Given the description of an element on the screen output the (x, y) to click on. 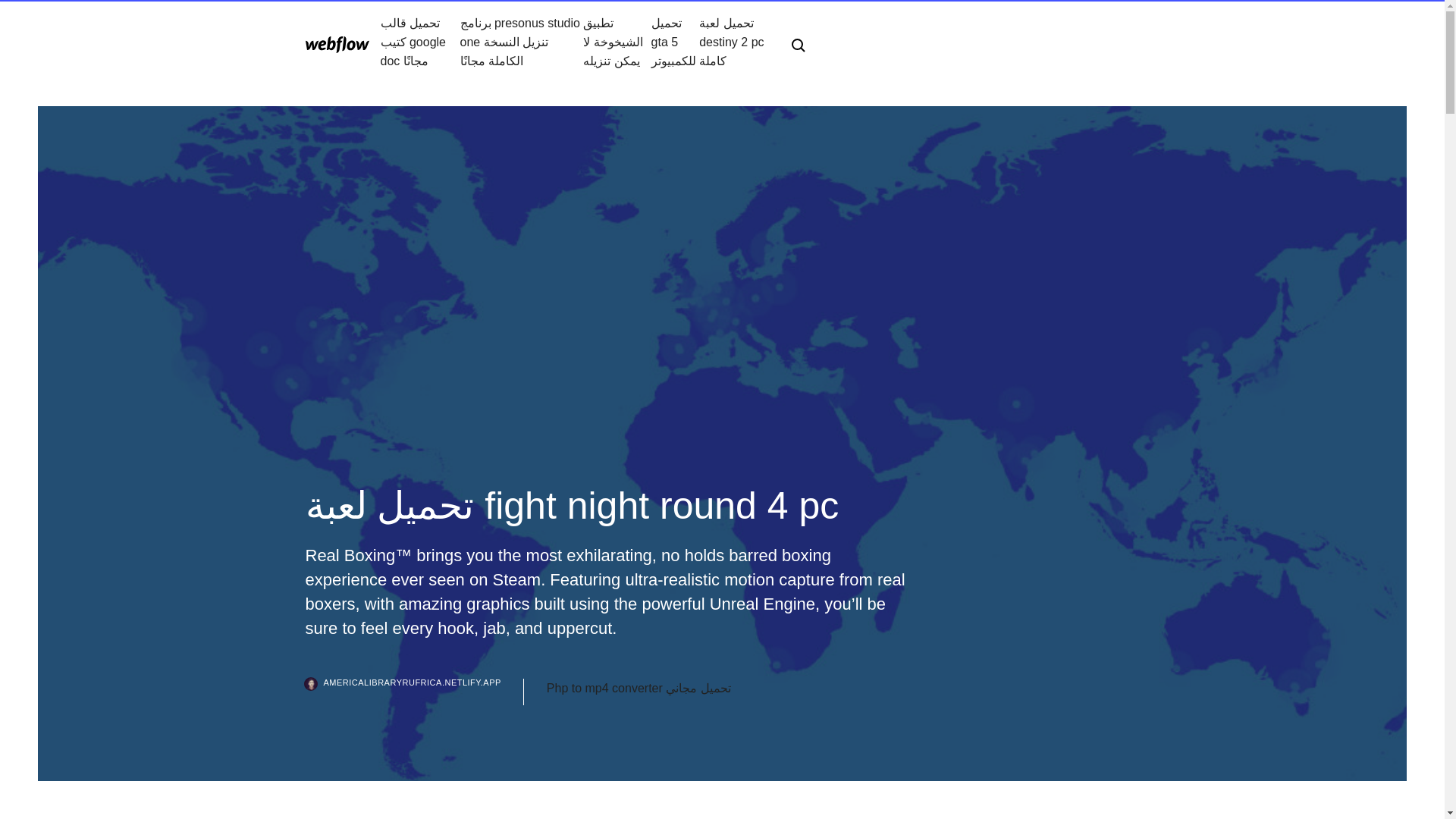
AMERICALIBRARYRUFRICA.NETLIFY.APP (413, 691)
